Given the description of an element on the screen output the (x, y) to click on. 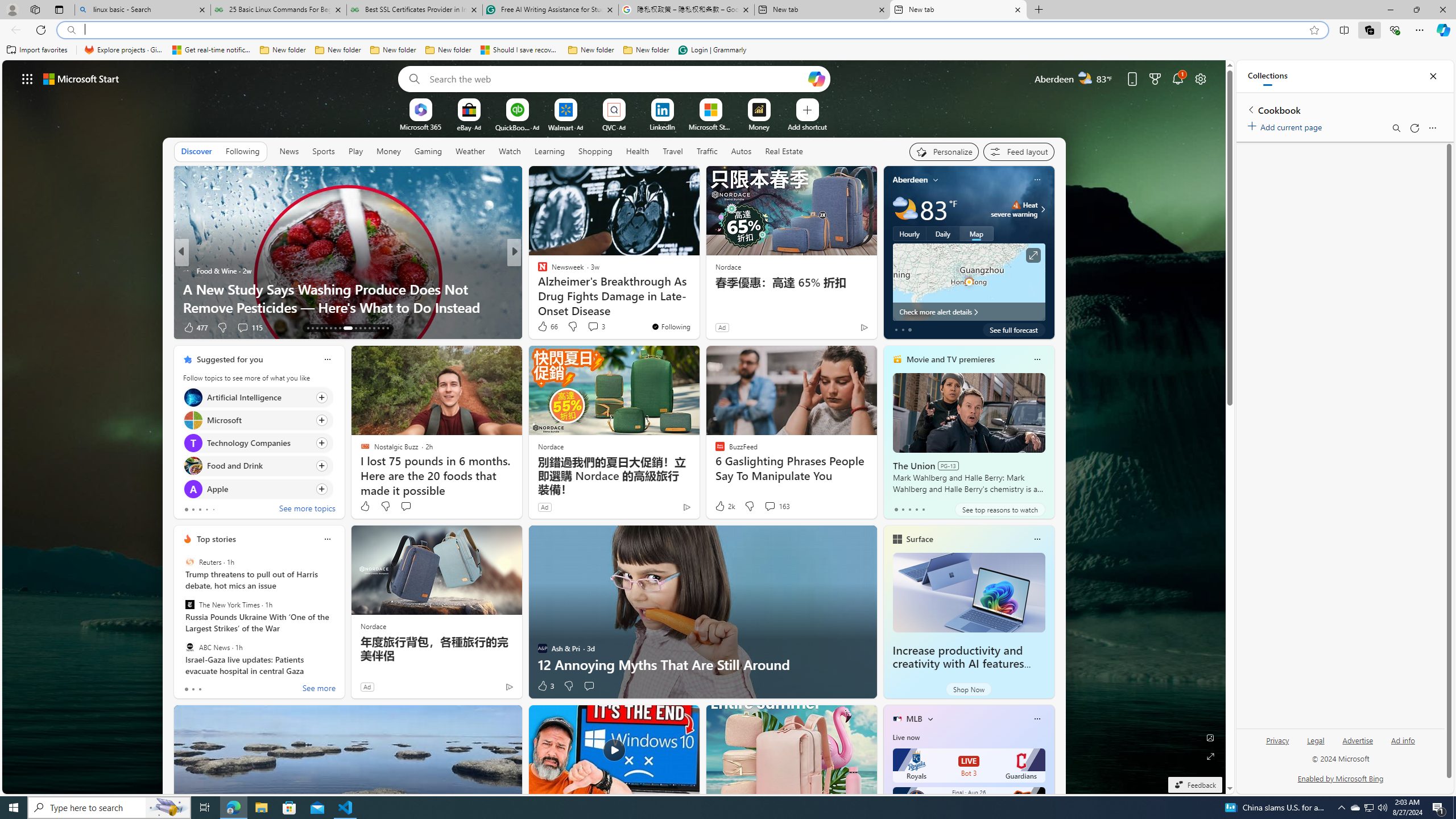
Weather (470, 151)
More options menu (1432, 127)
25 Basic Linux Commands For Beginners - GeeksforGeeks (277, 9)
See full forecast (1013, 329)
Partly cloudy (904, 208)
9 replacements for Windows features that Microsoft abandoned (697, 298)
AutomationID: tab-25 (368, 328)
Travel (672, 151)
Artificial Intelligence (192, 397)
Map (975, 233)
Food and Drink (192, 466)
